Given the description of an element on the screen output the (x, y) to click on. 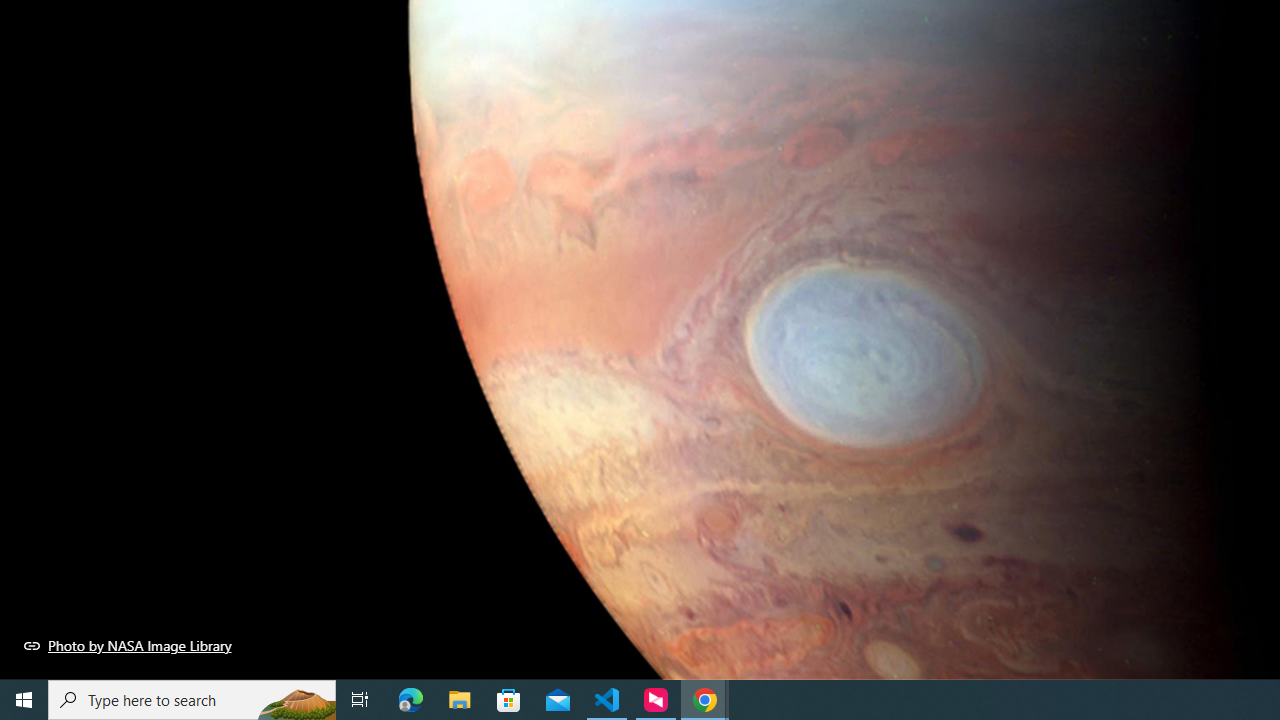
Photo by NASA Image Library (127, 645)
